Given the description of an element on the screen output the (x, y) to click on. 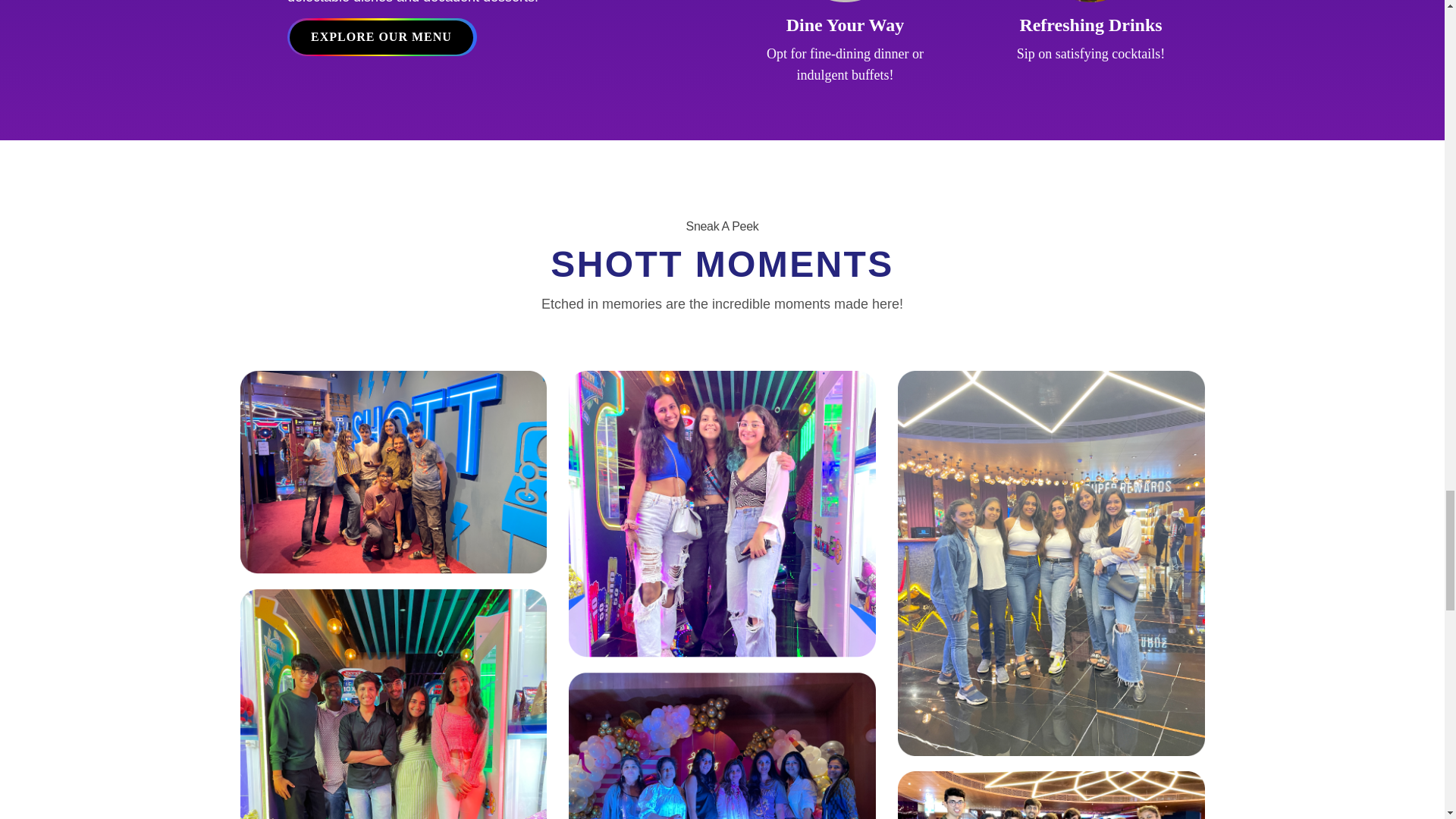
EXPLORE OUR MENU (381, 37)
EXPLORE OUR MENU (381, 38)
